Given the description of an element on the screen output the (x, y) to click on. 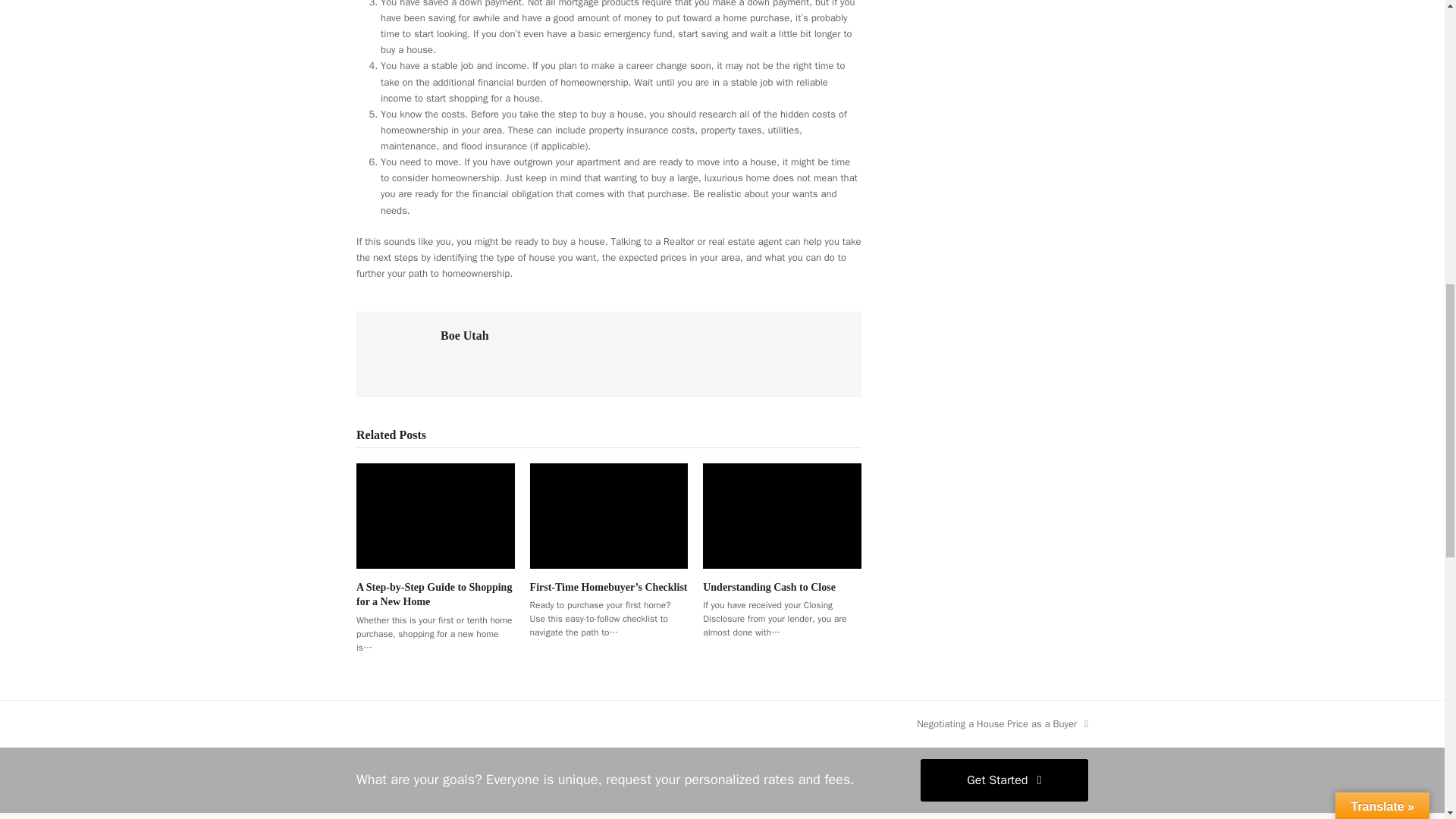
A Step-by-Step Guide to Shopping for a New Home (434, 594)
A Step-by-Step Guide to Shopping for a New Home (435, 515)
Visit Author Page (465, 335)
Get Started (1003, 780)
Visit Author Page (398, 352)
Boe Utah (1002, 723)
Understanding Cash to Close (465, 335)
